Given the description of an element on the screen output the (x, y) to click on. 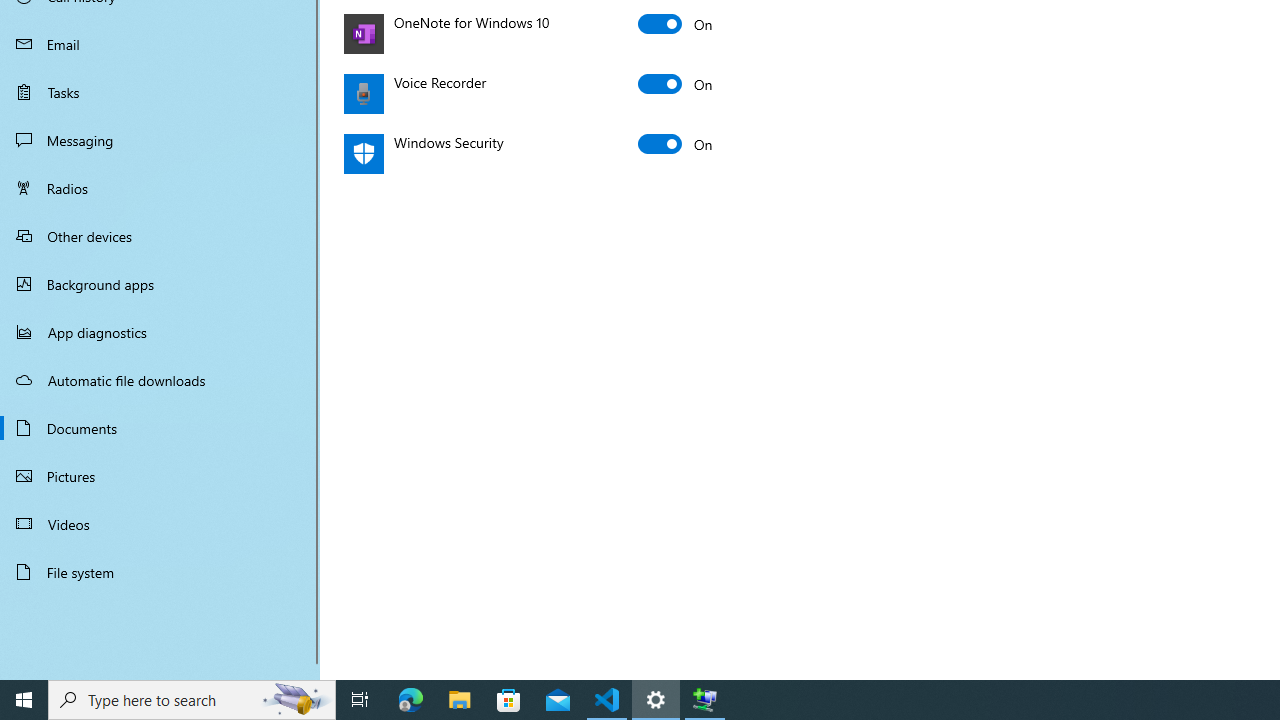
Background apps (160, 283)
File Explorer (460, 699)
Microsoft Store (509, 699)
Tasks (160, 91)
App diagnostics (160, 331)
Email (160, 43)
Extensible Wizards Host Process - 1 running window (704, 699)
Start (24, 699)
Other devices (160, 235)
Videos (160, 523)
Voice Recorder (675, 83)
Messaging (160, 139)
Radios (160, 187)
OneNote for Windows 10 (675, 23)
File system (160, 571)
